Given the description of an element on the screen output the (x, y) to click on. 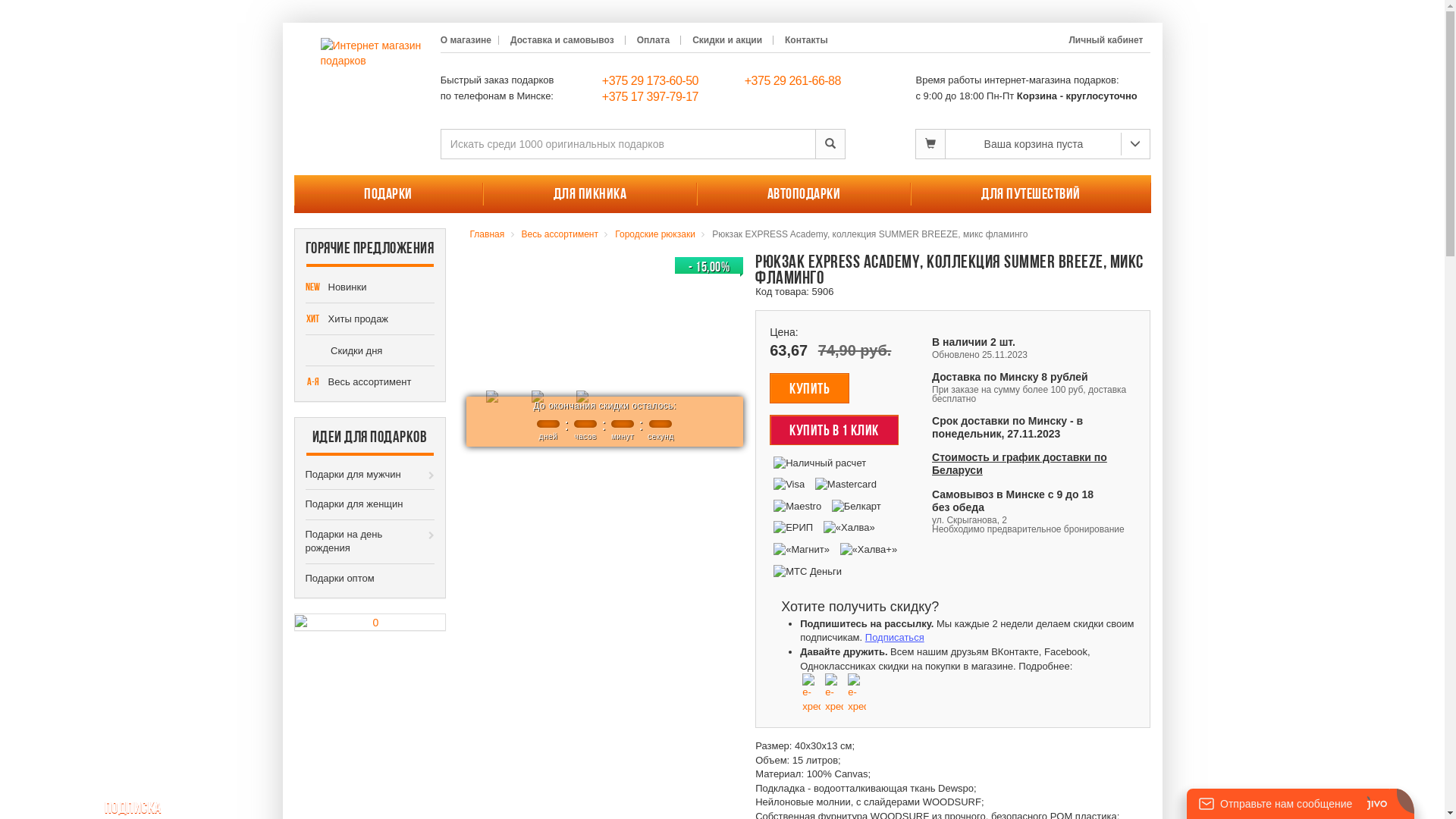
Visa Element type: hover (788, 484)
Maestro Element type: hover (797, 506)
+375 17 397-79-17 Element type: text (650, 96)
+375 29 173-60-50 Element type: text (650, 80)
+375 29 261-66-88 Element type: text (792, 80)
Mastercard Element type: hover (845, 484)
